Given the description of an element on the screen output the (x, y) to click on. 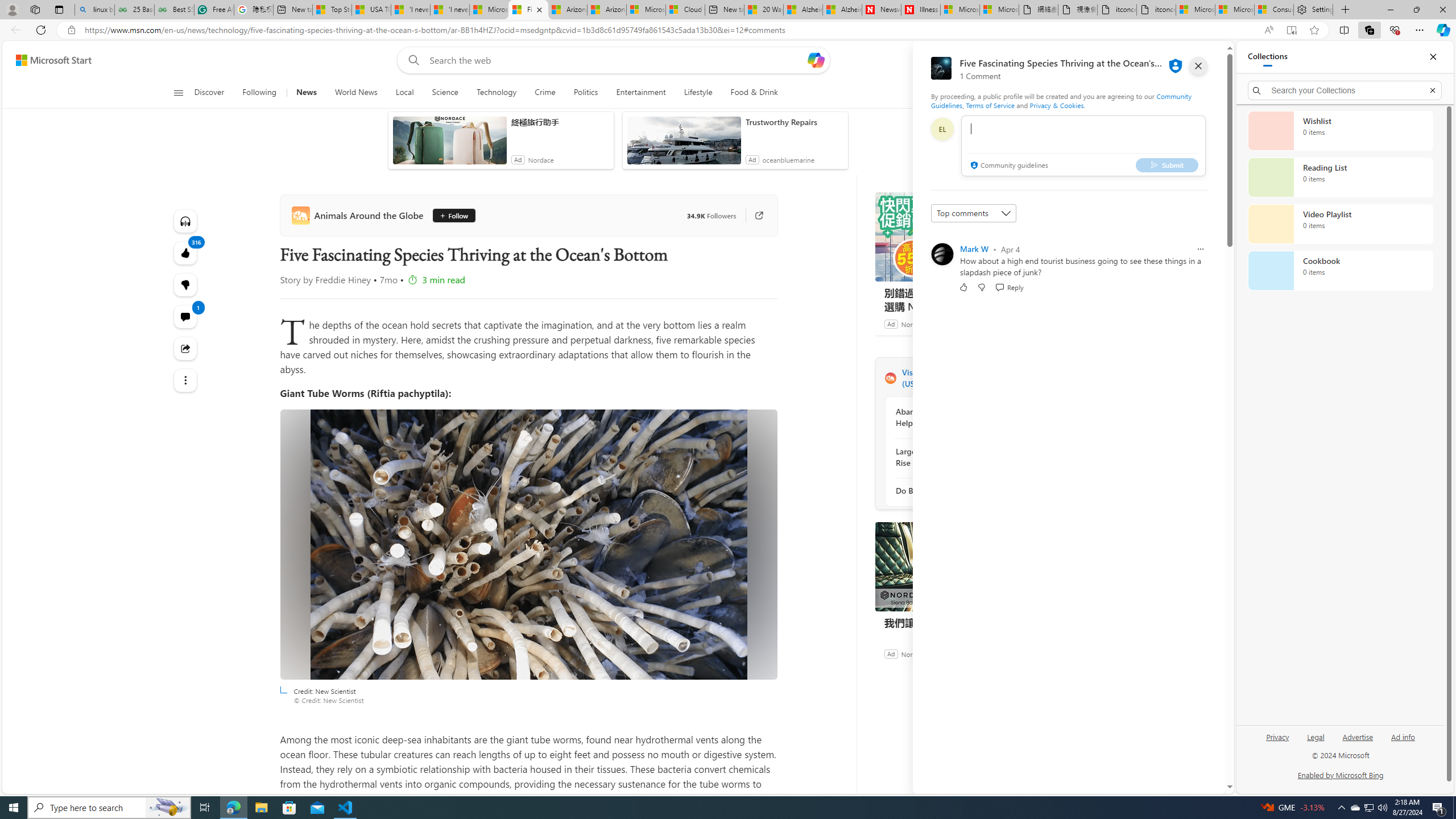
Newsweek - News, Analysis, Politics, Business, Technology (881, 9)
USA TODAY - MSN (371, 9)
Five Fascinating Species Thriving at the Ocean's Bottom (528, 9)
close (1198, 65)
Profile Picture (941, 254)
Enter Immersive Reader (F9) (1291, 29)
Illness news & latest pictures from Newsweek.com (920, 9)
Personalize (1019, 92)
Technology (496, 92)
